Given the description of an element on the screen output the (x, y) to click on. 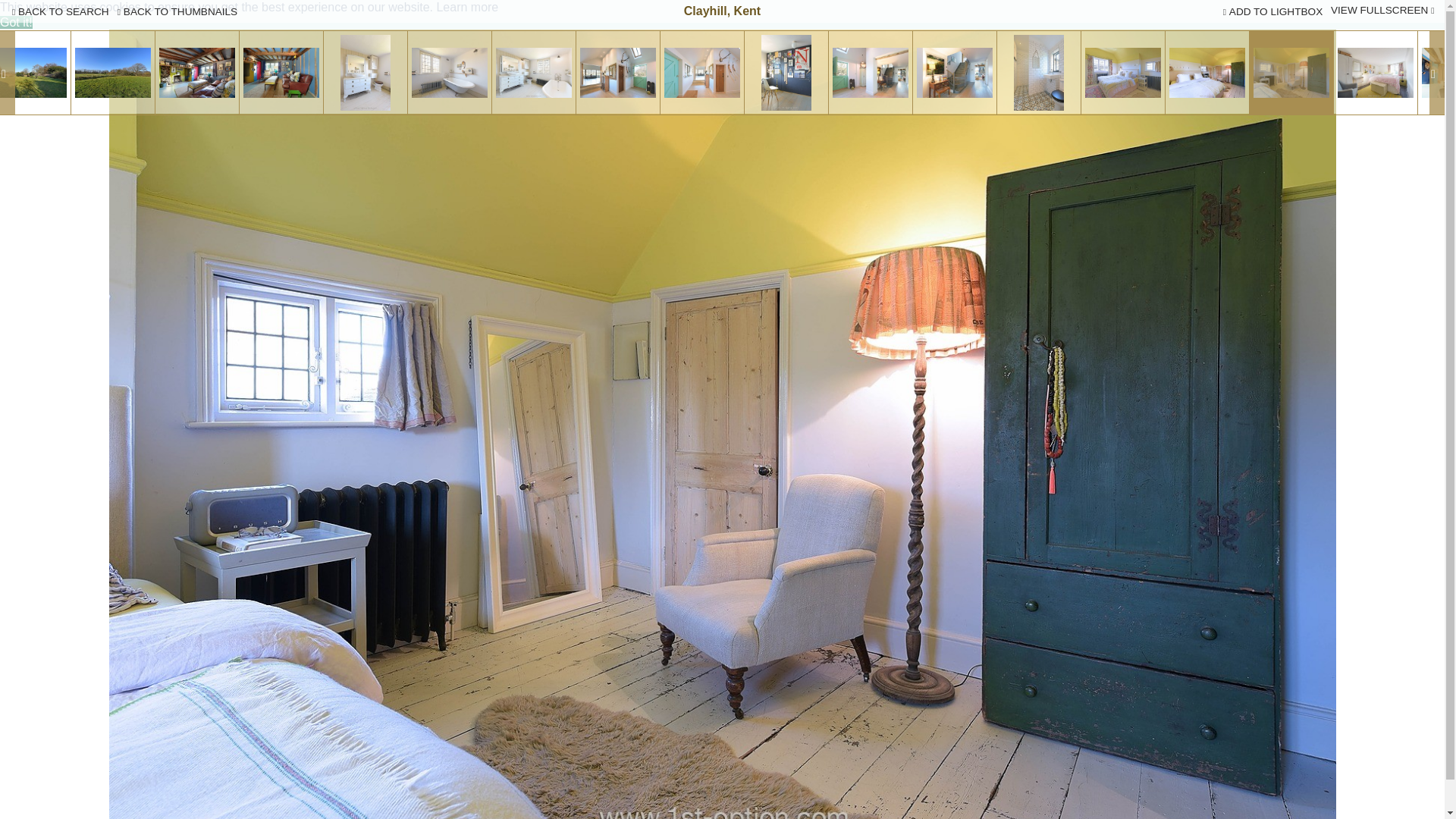
BACK TO THUMBNAILS (177, 11)
BACK TO SEARCH (60, 11)
ADD TO LIGHTBOX (1272, 11)
Learn more (466, 6)
Got it! (16, 21)
